Given the description of an element on the screen output the (x, y) to click on. 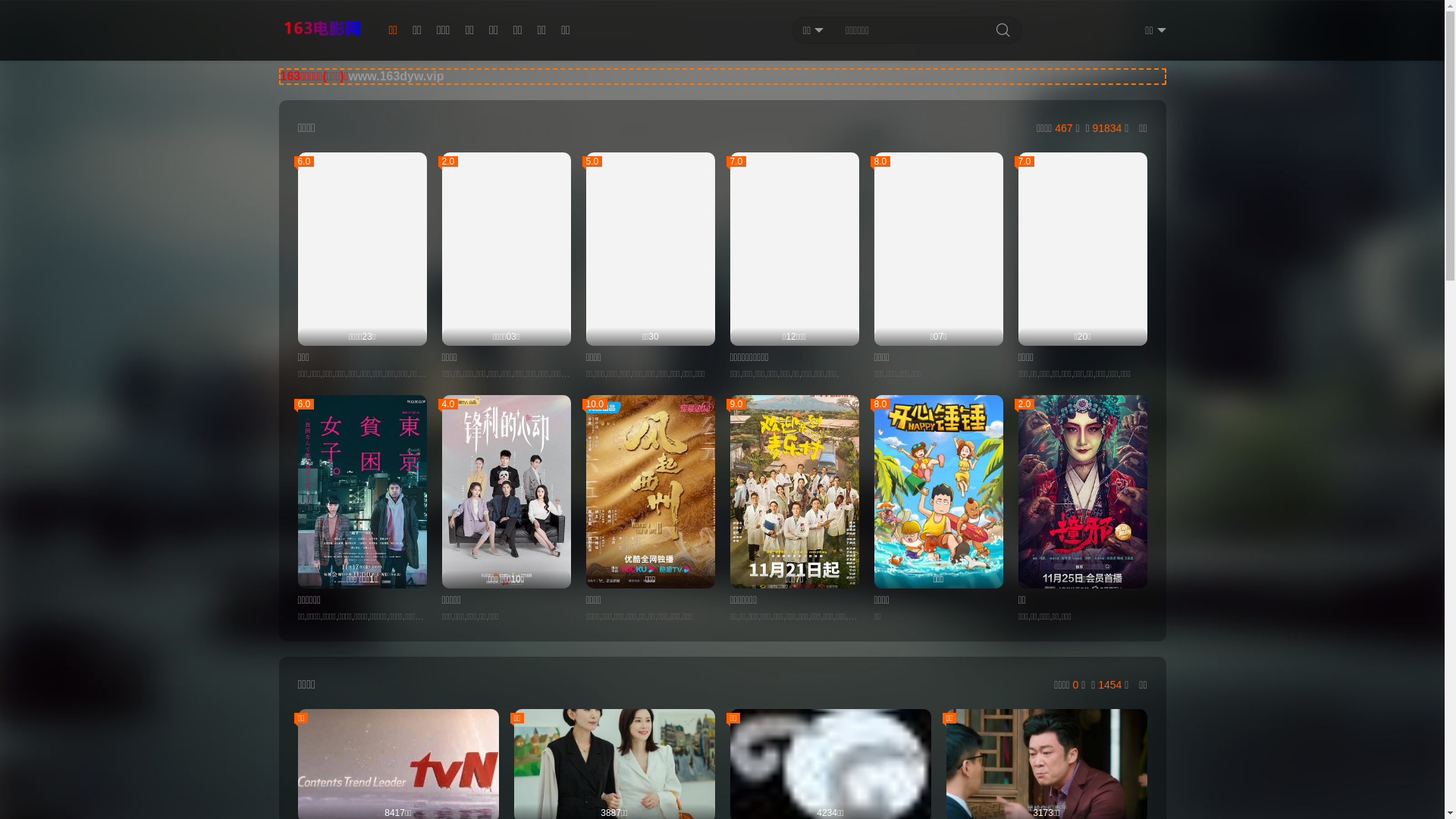
www.163dyw.vip Element type: text (395, 75)
